Given the description of an element on the screen output the (x, y) to click on. 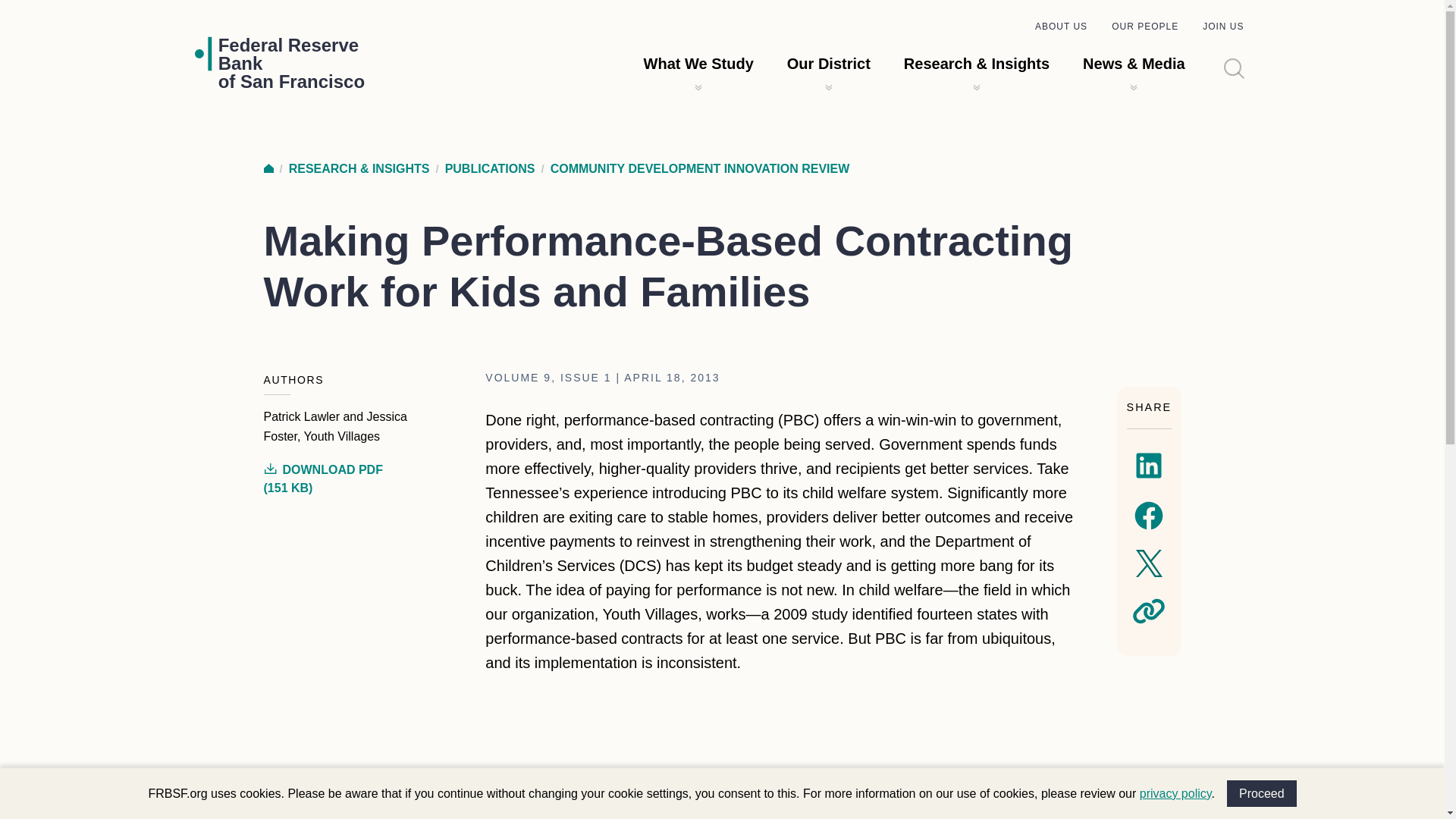
privacy policy (1175, 793)
ABOUT US (1061, 26)
What We Study (698, 63)
Proceed (291, 63)
JOIN US (1262, 793)
HOME (1222, 26)
Our District (268, 167)
OUR PEOPLE (828, 63)
